Given the description of an element on the screen output the (x, y) to click on. 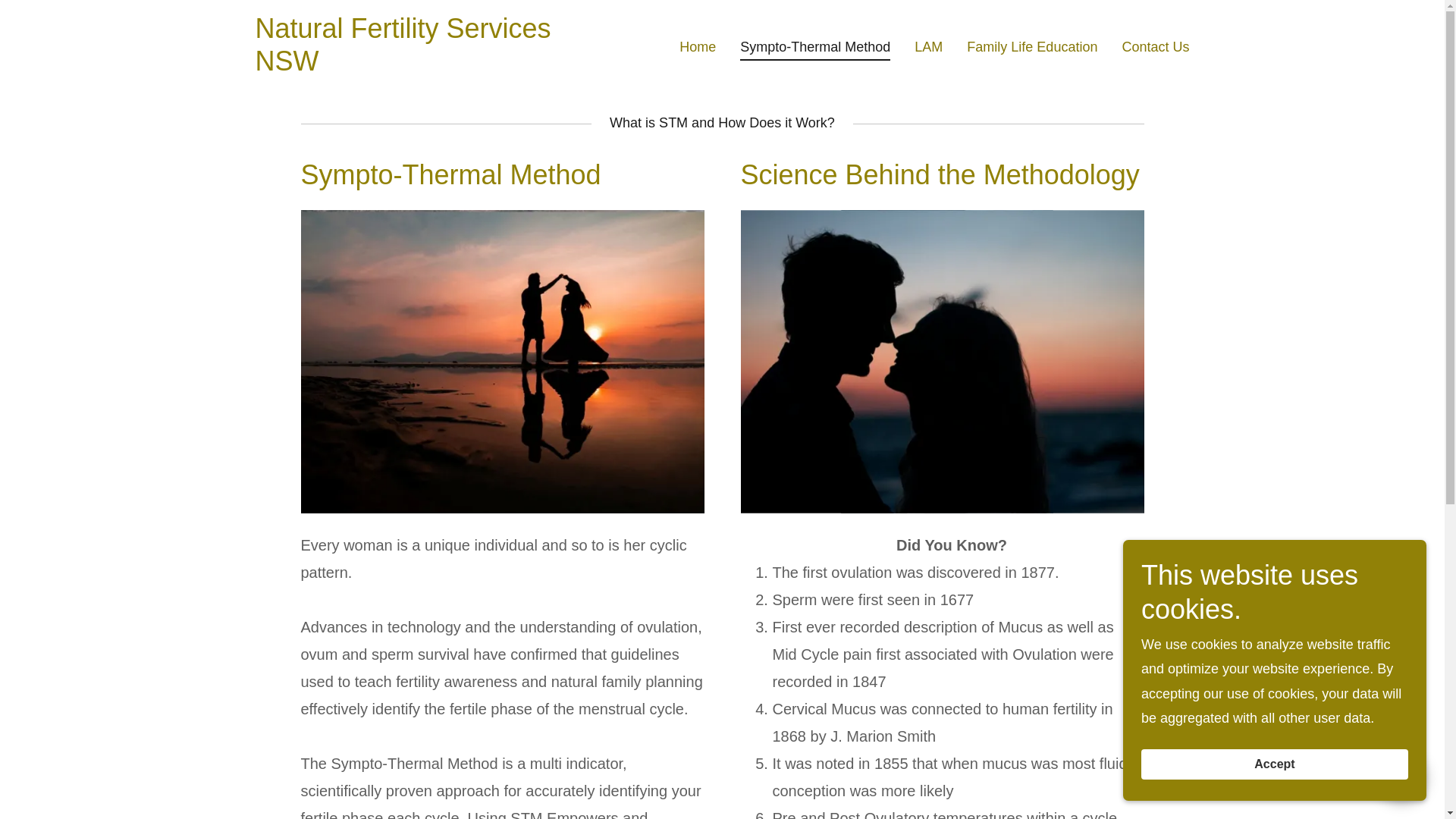
Accept (1274, 764)
Contact Us (1154, 45)
LAM (928, 45)
Natural Fertility Services NSW (417, 65)
Sympto-Thermal Method (814, 48)
Home (697, 45)
Family Life Education (1032, 45)
Natural Fertility Services NSW (417, 65)
